Given the description of an element on the screen output the (x, y) to click on. 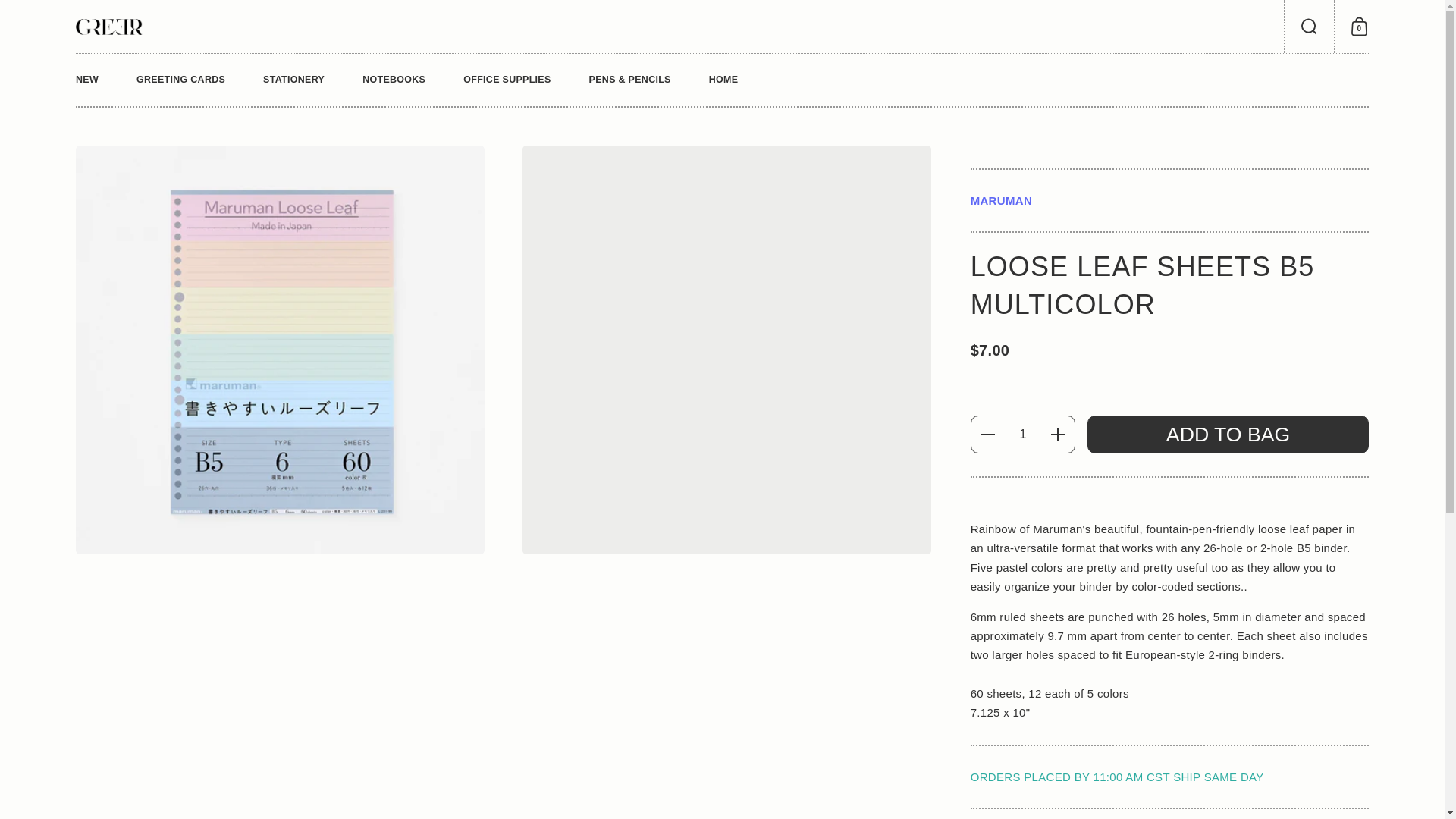
GREETING CARDS (1369, 26)
NOTEBOOKS (180, 79)
Open search (393, 79)
Shopping Cart (1308, 26)
NEW (1369, 26)
GREER Chicago (77, 79)
Skip to content (108, 26)
STATIONERY (1308, 26)
